Given the description of an element on the screen output the (x, y) to click on. 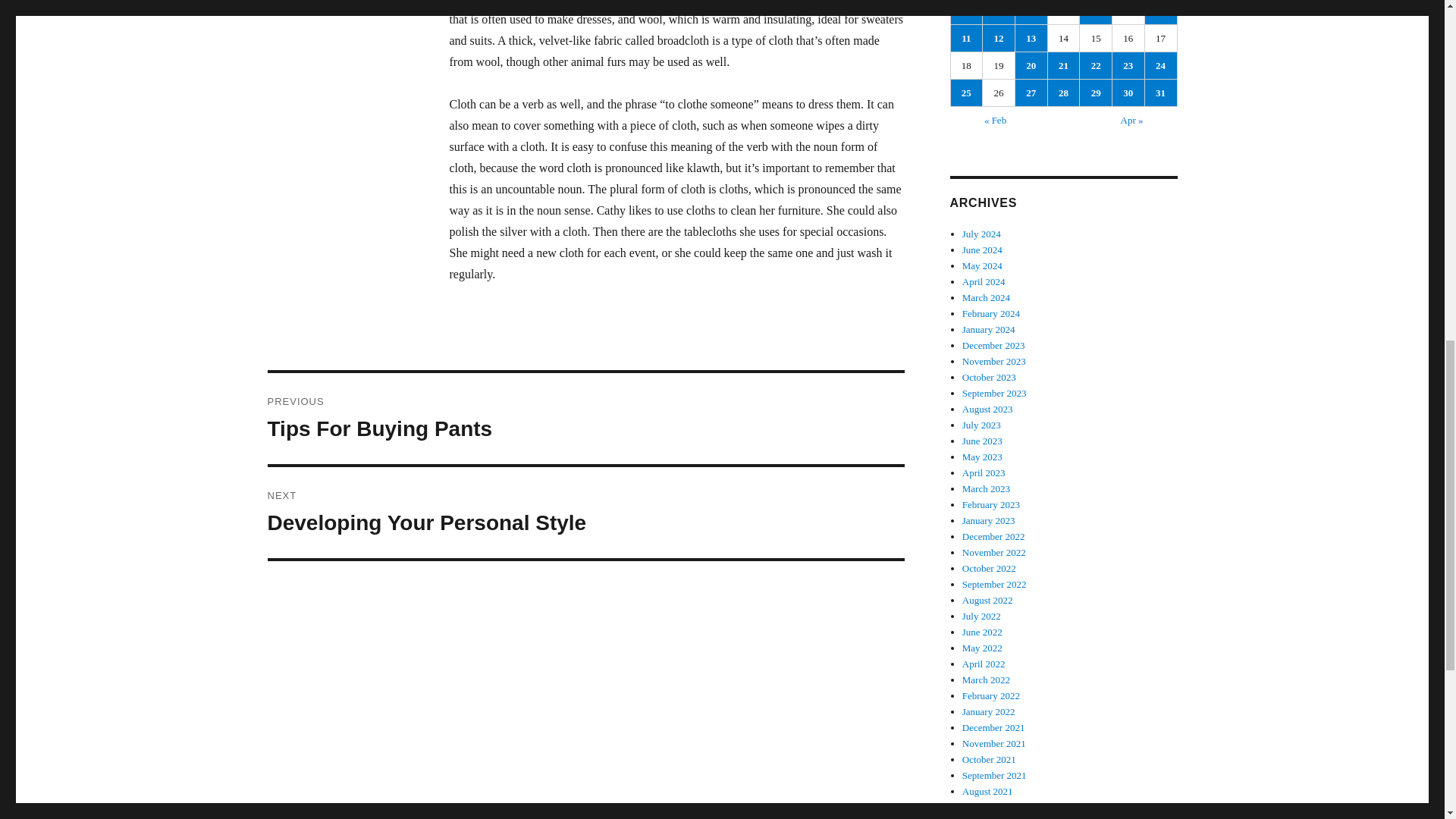
20 (1030, 65)
21 (1064, 65)
27 (1030, 92)
25 (966, 92)
23 (1128, 65)
4 (966, 12)
22 (1096, 65)
29 (1096, 92)
24 (585, 511)
30 (1160, 65)
5 (1128, 92)
10 (998, 12)
28 (1160, 12)
8 (1064, 92)
